Given the description of an element on the screen output the (x, y) to click on. 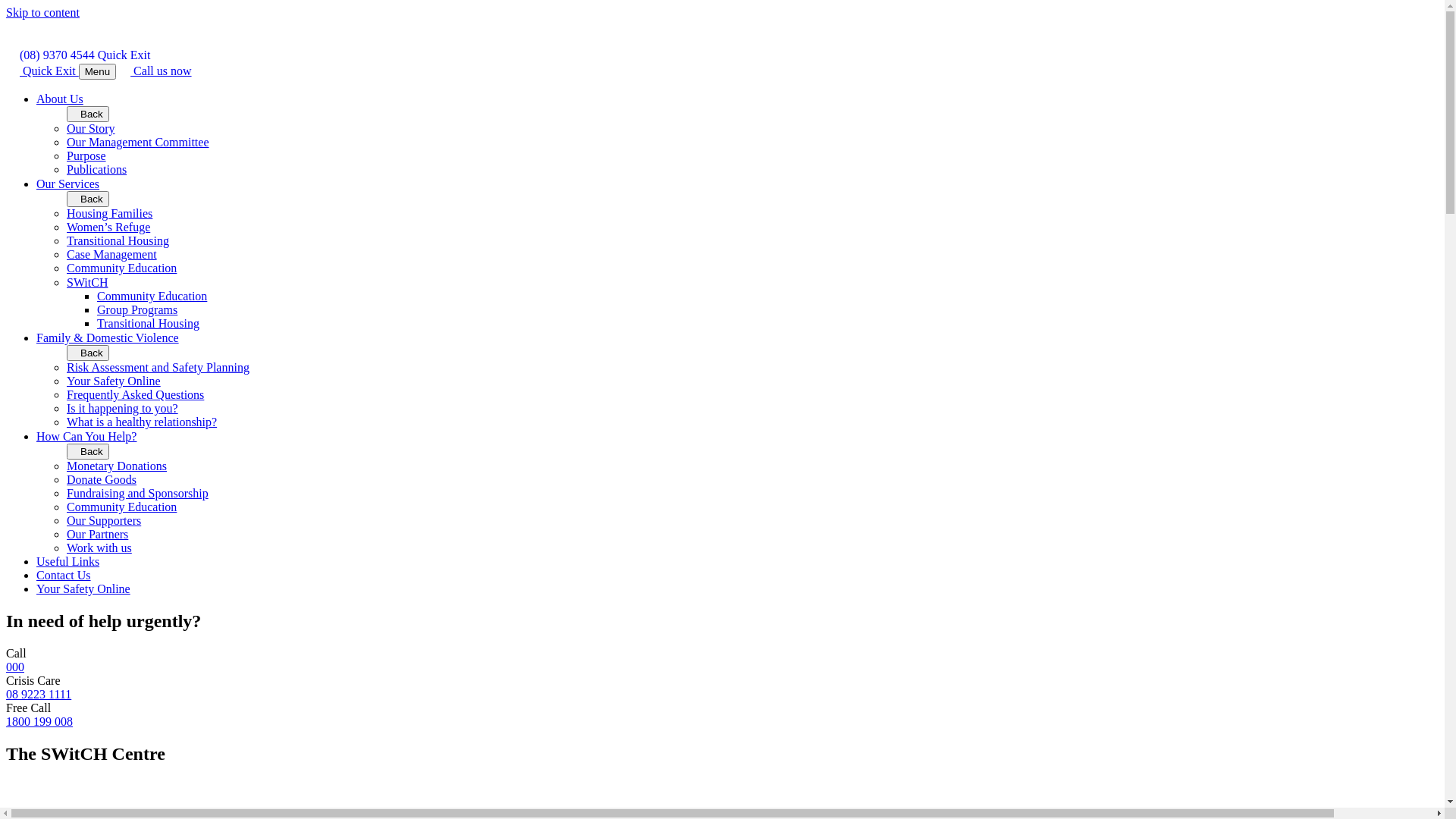
Donate Goods Element type: text (101, 479)
How Can You Help? Element type: text (86, 435)
Your Safety Online Element type: text (83, 588)
(08) 9370 4544 Element type: text (50, 54)
Quick Exit Element type: text (123, 54)
Community Education Element type: text (121, 506)
Call us now Element type: text (155, 70)
Our Partners Element type: text (97, 533)
Your Safety Online Element type: text (113, 380)
Back Element type: text (87, 114)
What is a healthy relationship? Element type: text (141, 421)
Back Element type: text (87, 352)
Contact Us Element type: text (63, 574)
Case Management Element type: text (111, 253)
Back Element type: text (87, 451)
000 Element type: text (15, 666)
Menu Element type: text (97, 71)
08 9223 1111 Element type: text (38, 693)
Community Education Element type: text (152, 295)
Transitional Housing Element type: text (117, 240)
Transitional Housing Element type: text (148, 322)
Housing Families Element type: text (109, 213)
Fundraising and Sponsorship Element type: text (137, 492)
SWitCH Element type: text (86, 282)
1800 199 008 Element type: text (39, 721)
Publications Element type: text (96, 169)
Back Element type: text (87, 199)
About Us Element type: text (59, 98)
Our Services Element type: text (67, 183)
Group Programs Element type: text (137, 309)
Frequently Asked Questions Element type: text (134, 394)
Is it happening to you? Element type: text (122, 407)
Community Education Element type: text (121, 267)
Risk Assessment and Safety Planning Element type: text (157, 366)
Monetary Donations Element type: text (116, 465)
Quick Exit Element type: text (42, 70)
Our Supporters Element type: text (103, 520)
Skip to content Element type: text (42, 12)
Useful Links Element type: text (67, 561)
Our Management Committee Element type: text (137, 141)
Purpose Element type: text (86, 155)
Family & Domestic Violence Element type: text (107, 337)
Our Story Element type: text (90, 128)
Work with us Element type: text (98, 547)
